Given the description of an element on the screen output the (x, y) to click on. 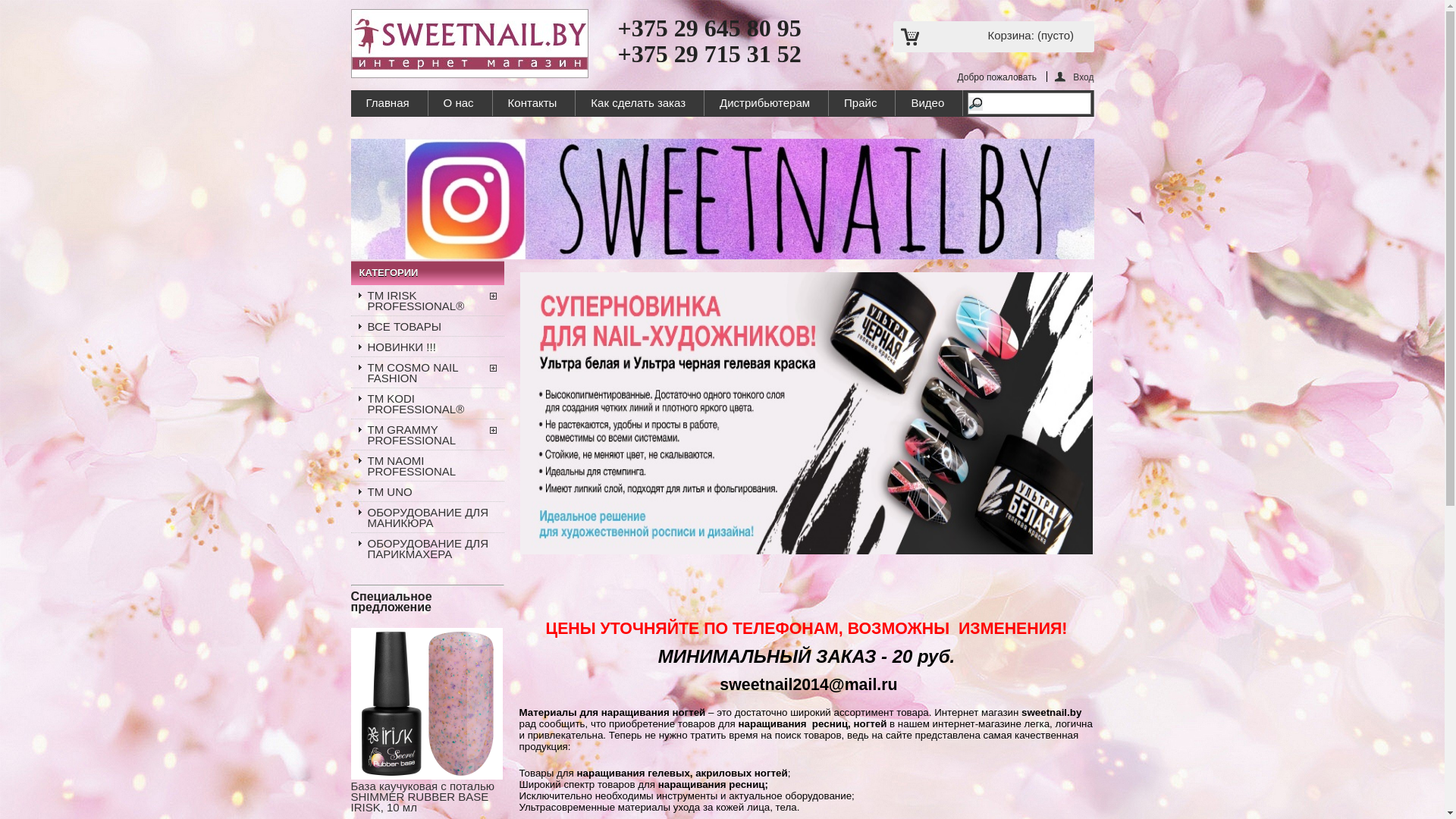
sweetnail.by Element type: hover (468, 44)
TM UNO Element type: text (426, 491)
TM COSMO NAIL FASHION Element type: text (426, 372)
